Given the description of an element on the screen output the (x, y) to click on. 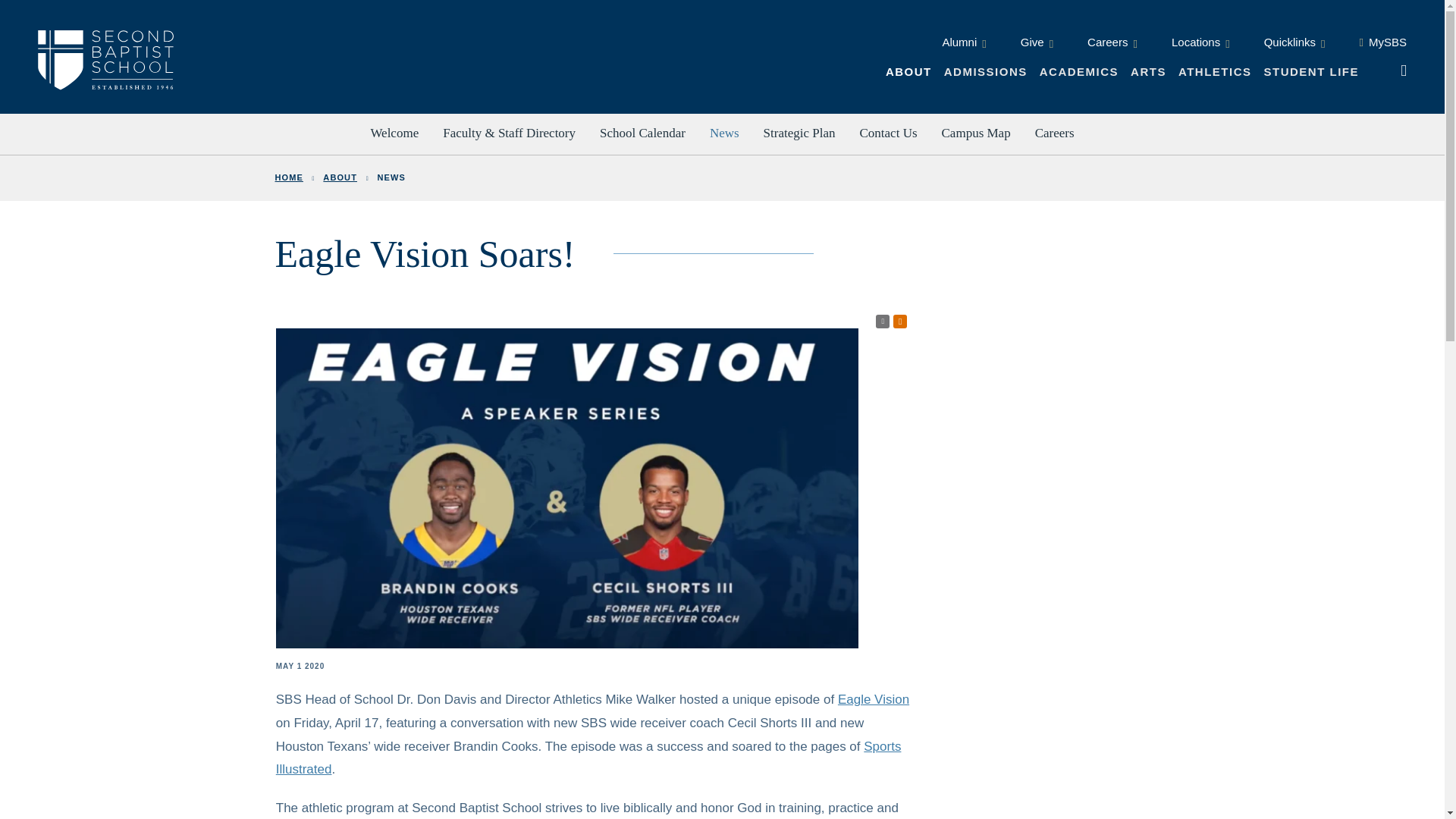
Quicklinks (1293, 48)
RSS (882, 321)
Careers (1112, 48)
Give (1036, 48)
Alerts (900, 321)
ABOUT (908, 76)
Alumni (963, 48)
MySBS (1382, 48)
Locations (1201, 48)
ADMISSIONS (985, 76)
